Given the description of an element on the screen output the (x, y) to click on. 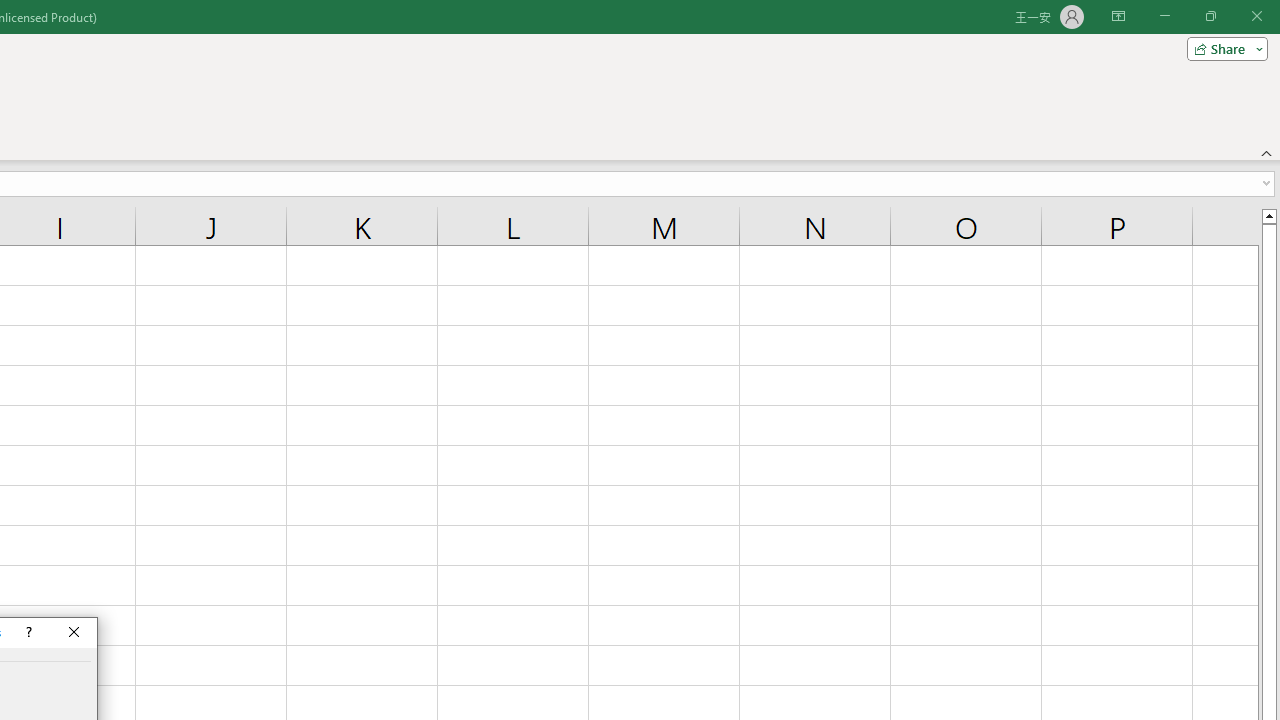
Context help (27, 632)
Restore Down (1210, 16)
